Given the description of an element on the screen output the (x, y) to click on. 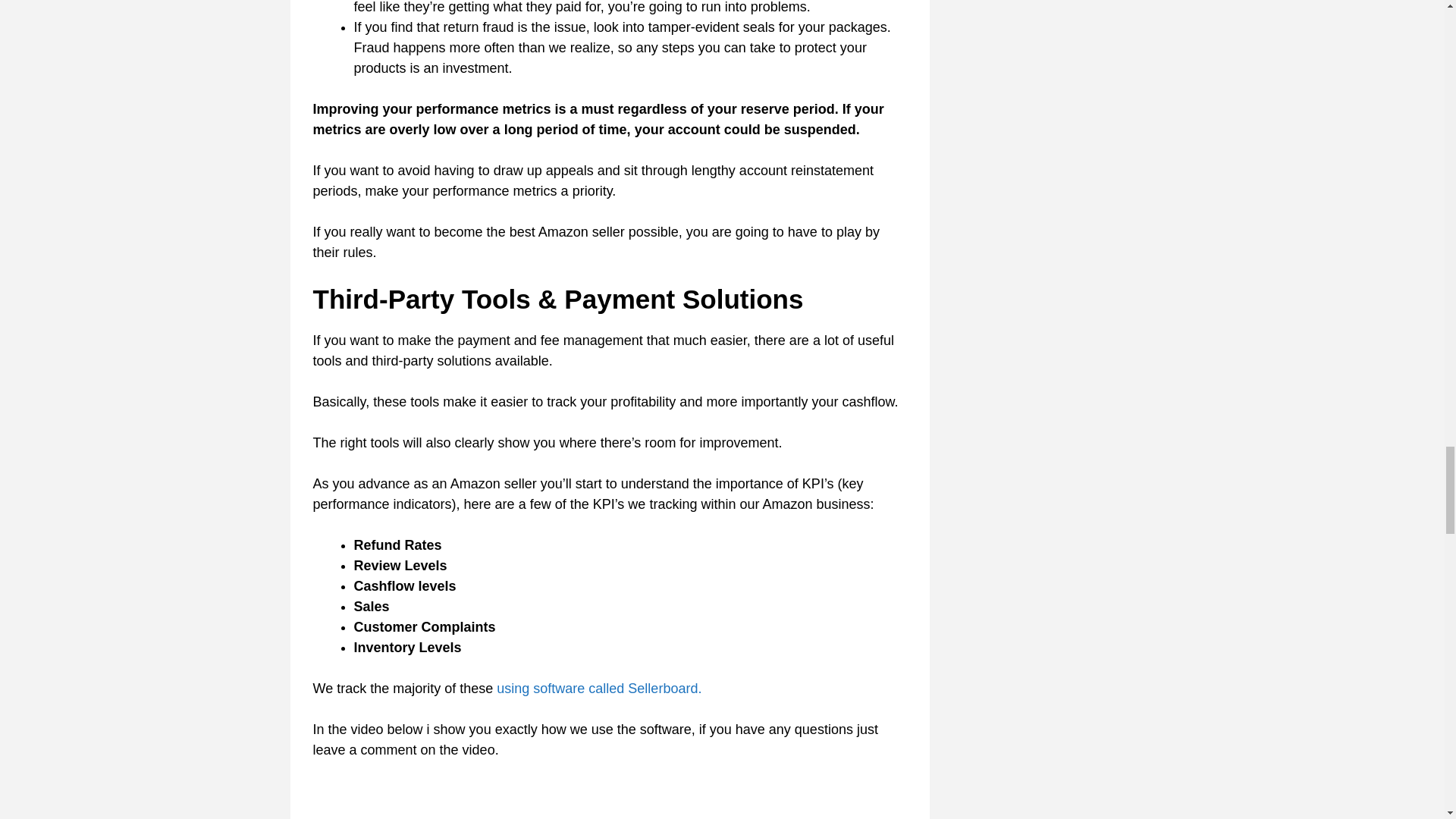
using software called Sellerboard. (598, 688)
